Given the description of an element on the screen output the (x, y) to click on. 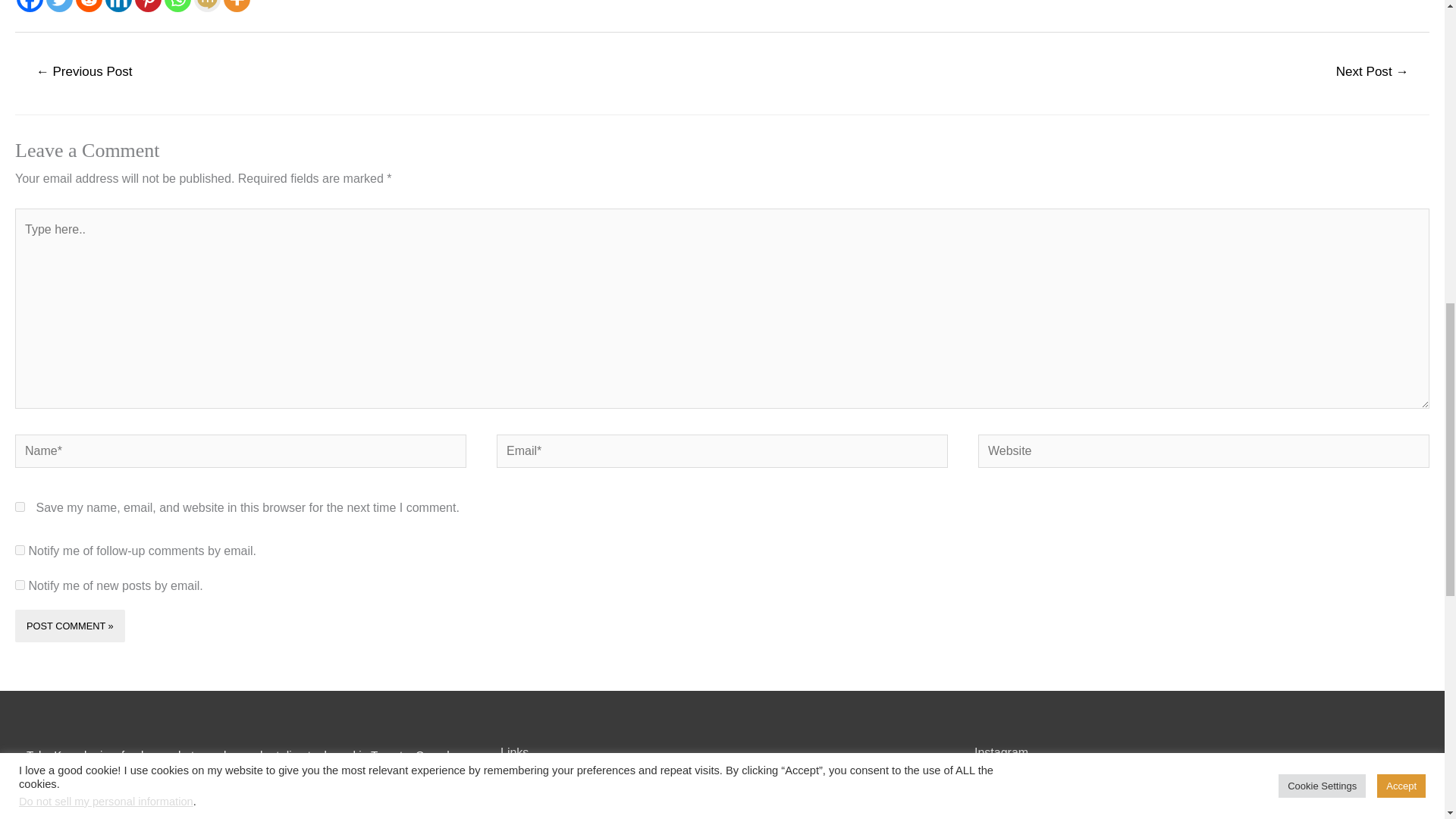
Facebook (29, 6)
More (237, 6)
Twitter (59, 6)
subscribe (19, 584)
Portfolio (521, 784)
Mixi (207, 6)
Whatsapp (177, 6)
Pinterest (148, 6)
yes (19, 506)
Linkedin (118, 6)
subscribe (19, 550)
Reddit (88, 6)
The Festographer (546, 808)
